Given the description of an element on the screen output the (x, y) to click on. 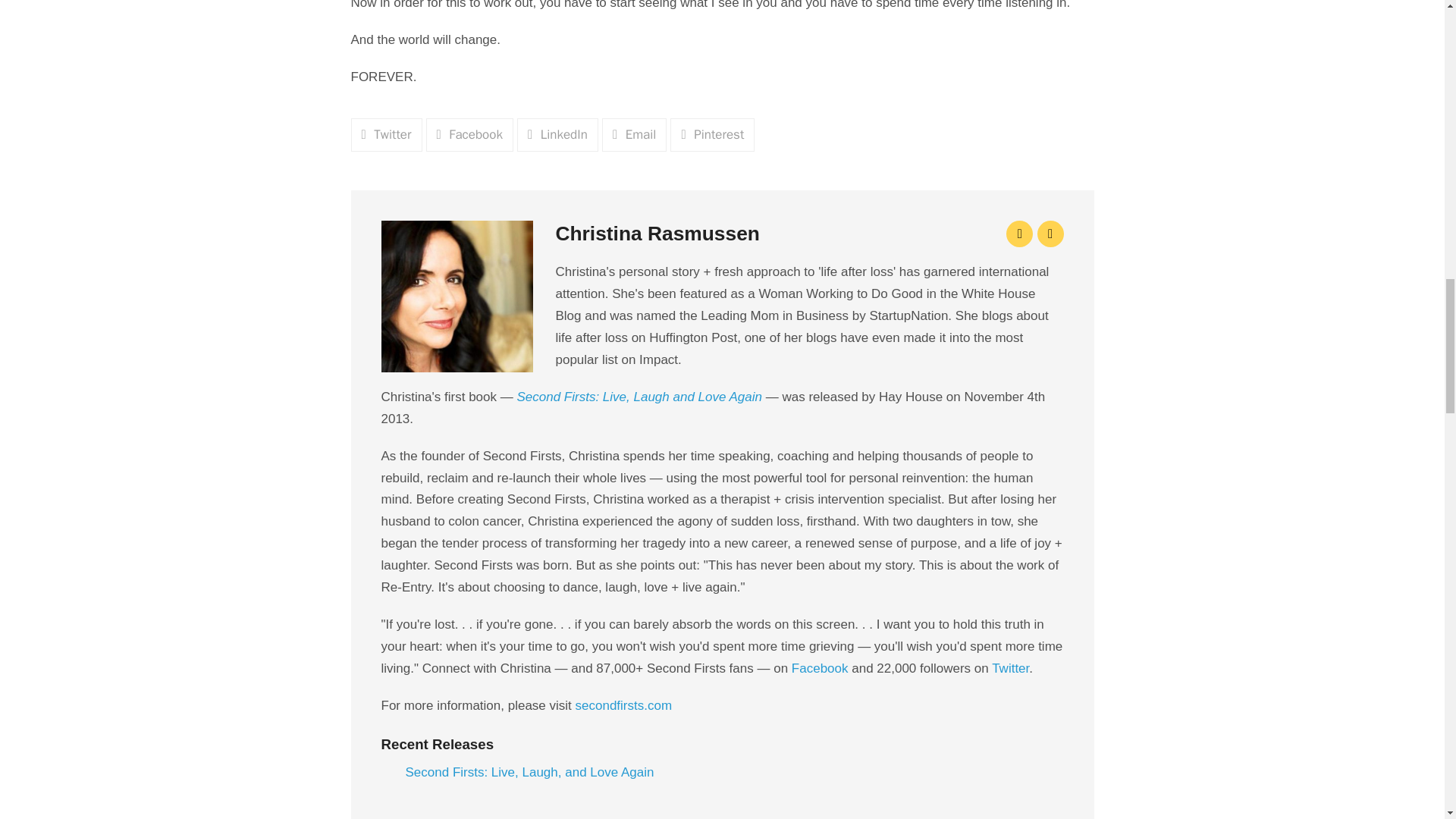
Email (634, 134)
Second Firsts: Live, Laugh, and Love Again (528, 772)
Twitter (1010, 667)
Pinterest (711, 134)
Facebook (469, 134)
Facebook (820, 667)
Christina Rasmussen (656, 241)
Twitter (386, 134)
Second Firsts: Live, Laugh and Love Again (638, 396)
secondfirsts.com (623, 705)
LinkedIn (557, 134)
